Given the description of an element on the screen output the (x, y) to click on. 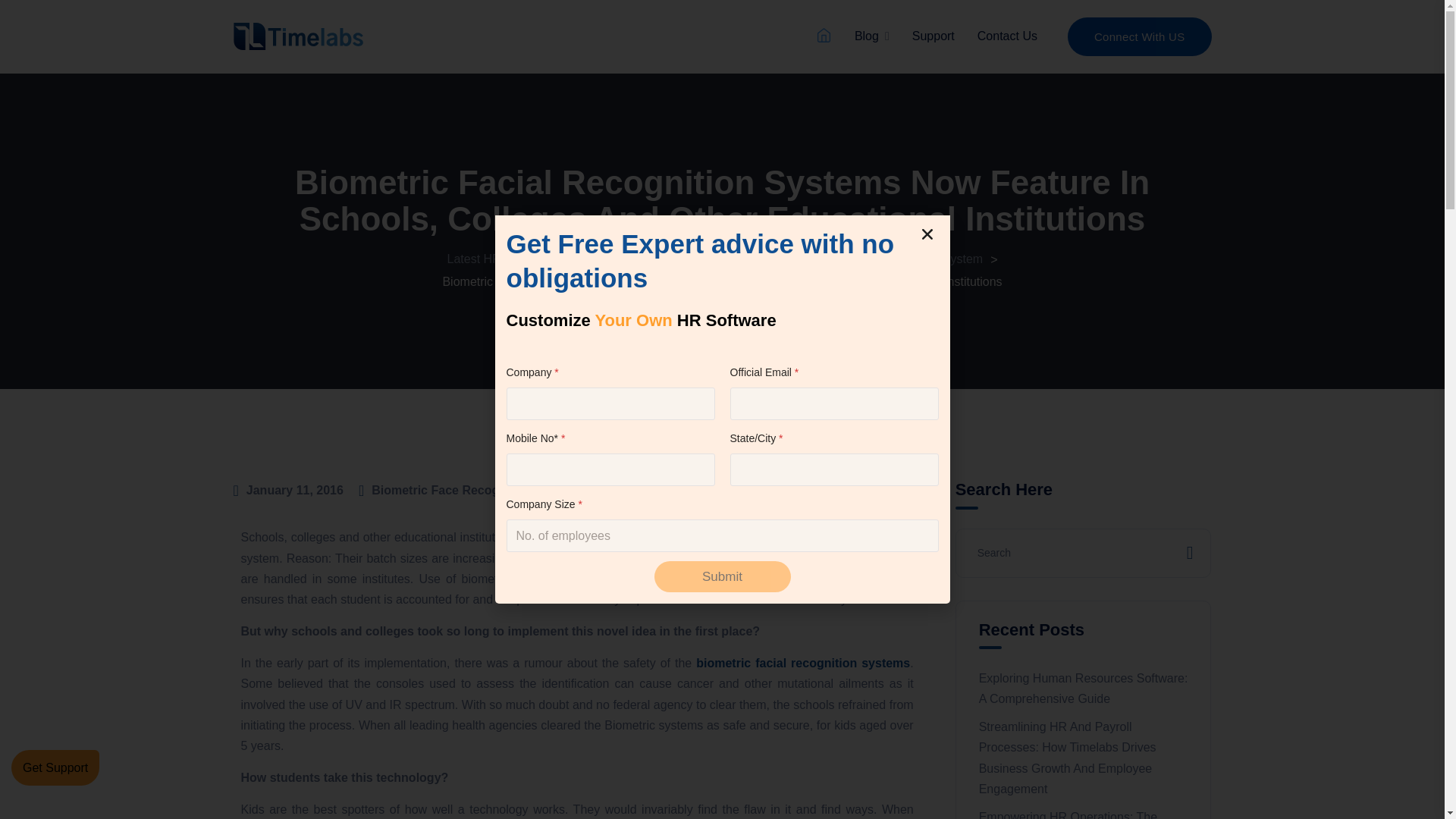
Support (933, 36)
biometric facial recognition systems (802, 662)
Contact Us (1007, 36)
Biometric Face Recognition System (886, 258)
Biometric Face Recognition System (474, 489)
Support (933, 36)
Connect With US (1139, 36)
